Given the description of an element on the screen output the (x, y) to click on. 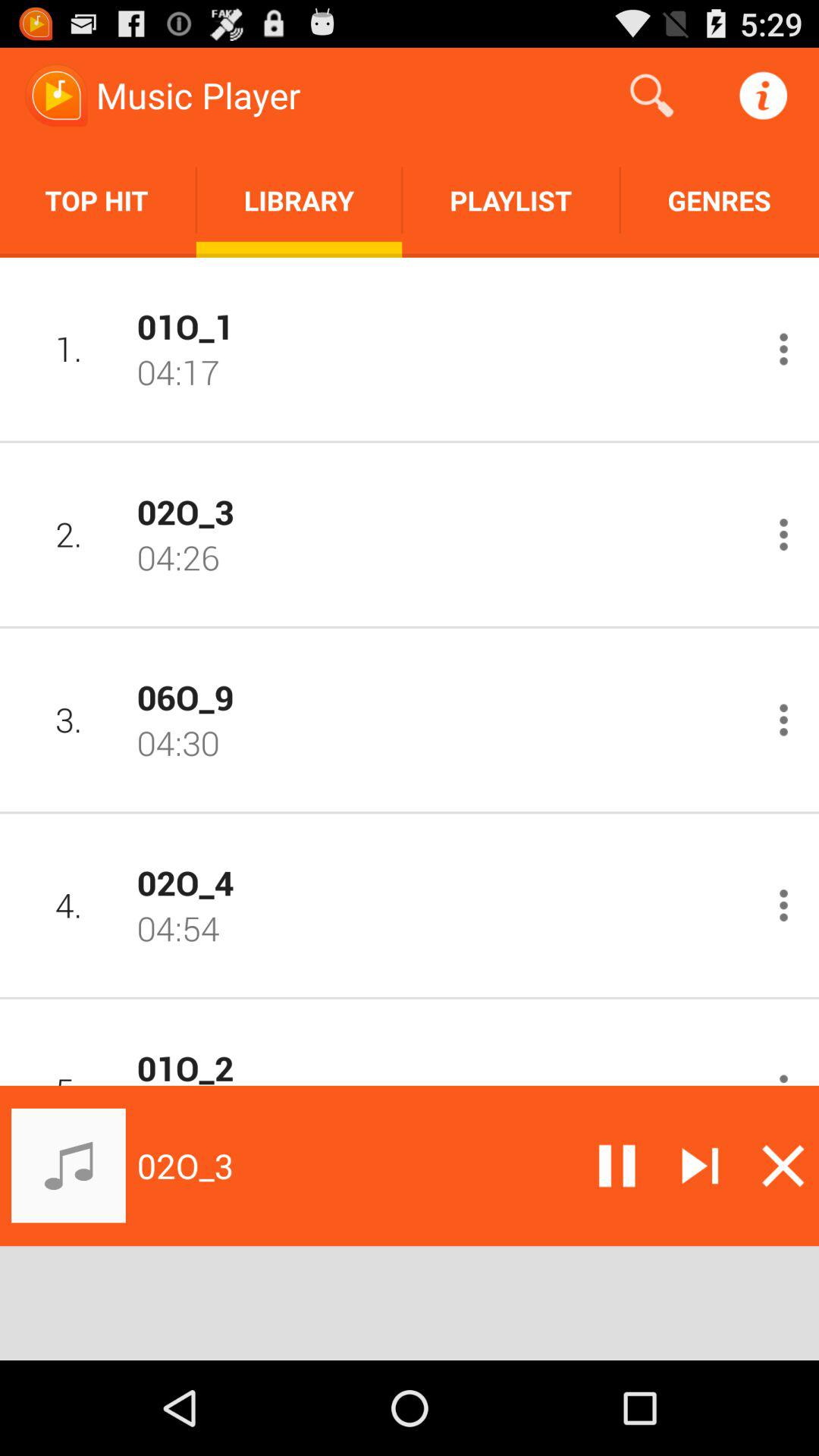
choose icon next to 01o_1 (68, 348)
